Given the description of an element on the screen output the (x, y) to click on. 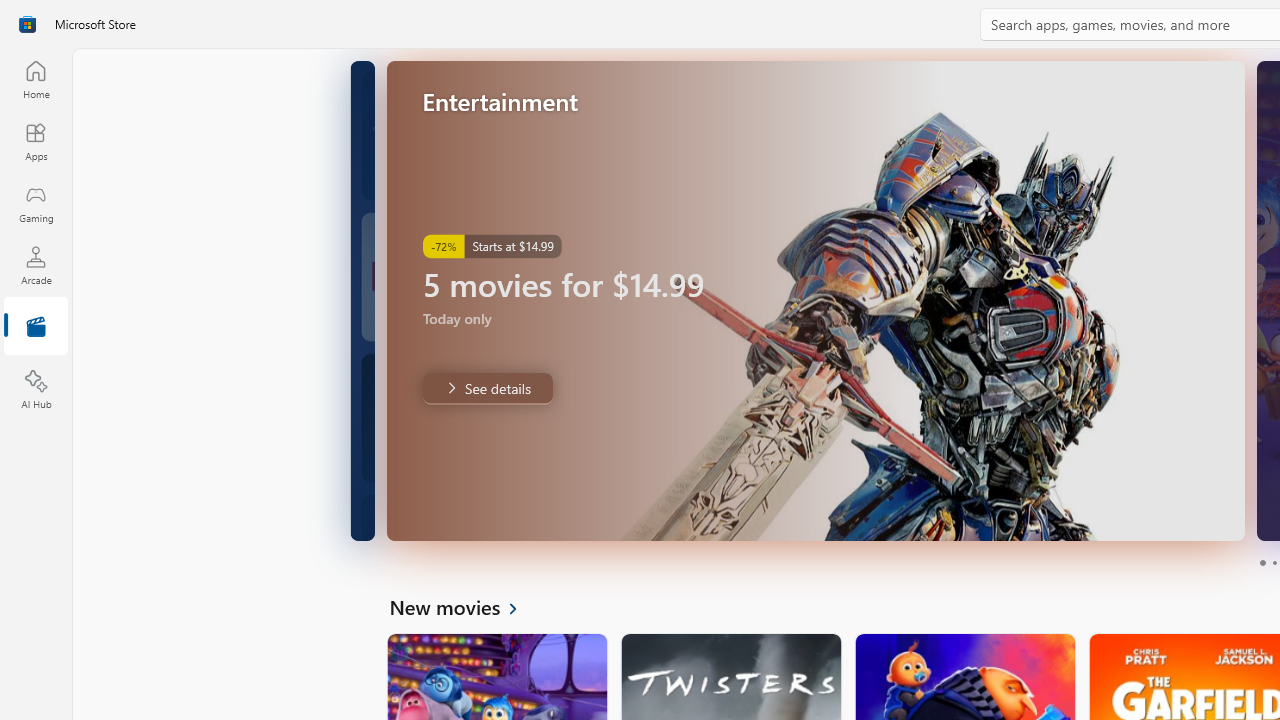
See all  New movies (464, 606)
Entertainment (35, 327)
AI Hub (35, 390)
Gaming (35, 203)
Play Trailer (1175, 512)
Page 1 (1261, 562)
AutomationID: Image (815, 300)
Unmute (1215, 512)
Page 2 (1274, 562)
Home (35, 79)
Arcade (35, 265)
Apps (35, 141)
Class: Image (27, 24)
